Given the description of an element on the screen output the (x, y) to click on. 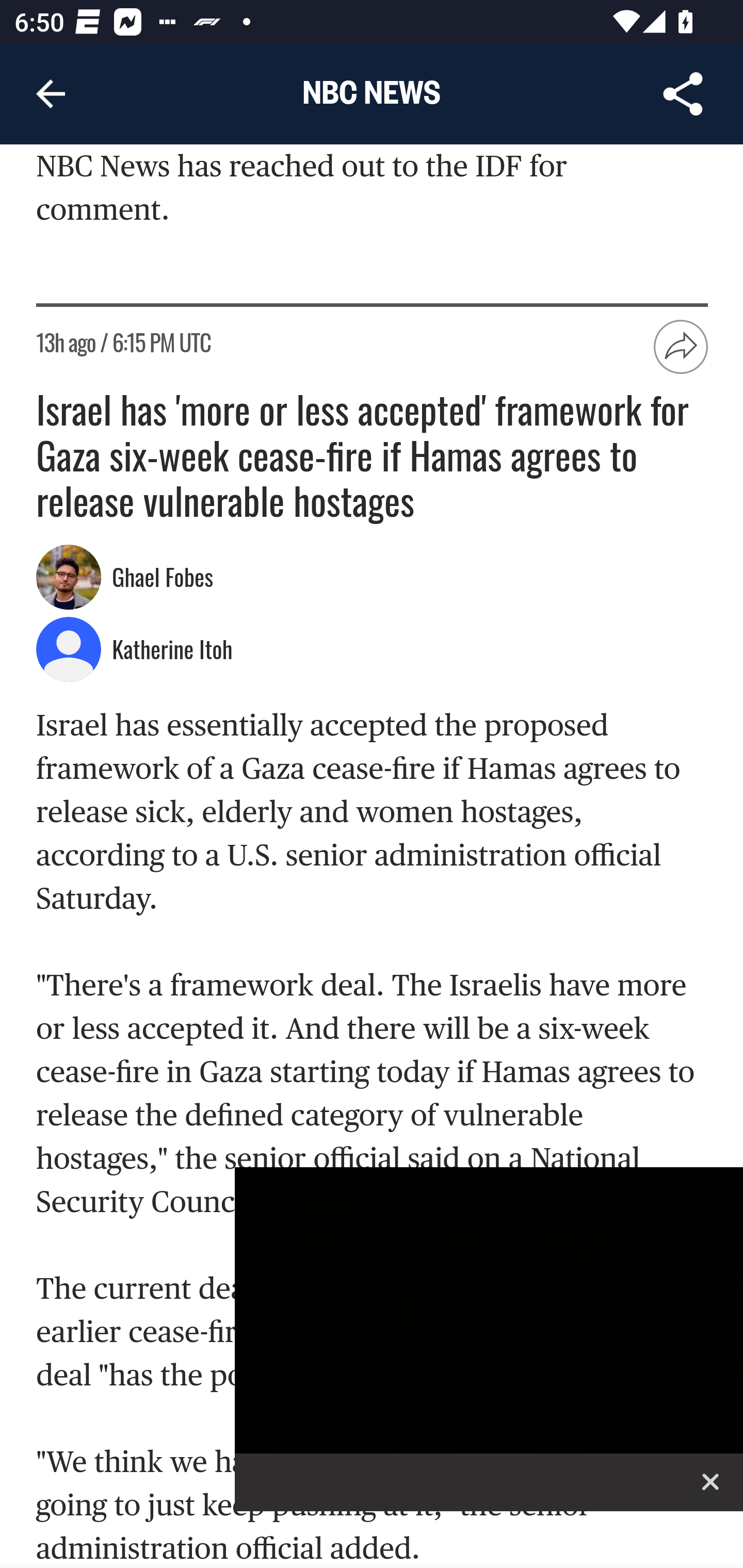
Navigate up (50, 93)
Share Article, button (683, 94)
open social share icon list (681, 347)
ghael-fobes-ncpn1300094 (69, 578)
Ghael Fobes (165, 578)
